Given the description of an element on the screen output the (x, y) to click on. 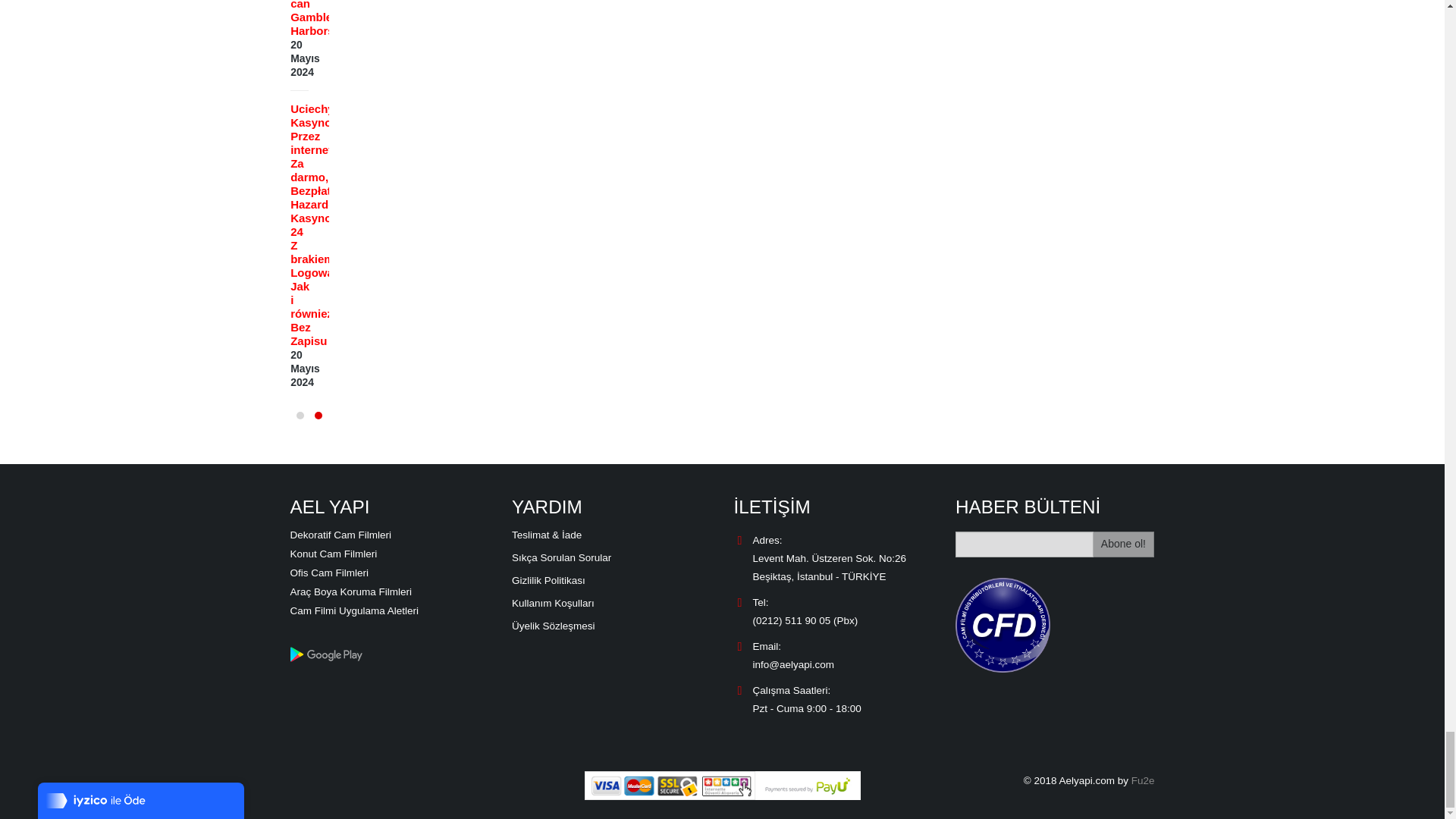
Abone ol! (1123, 544)
E-Posta (1024, 544)
